Given the description of an element on the screen output the (x, y) to click on. 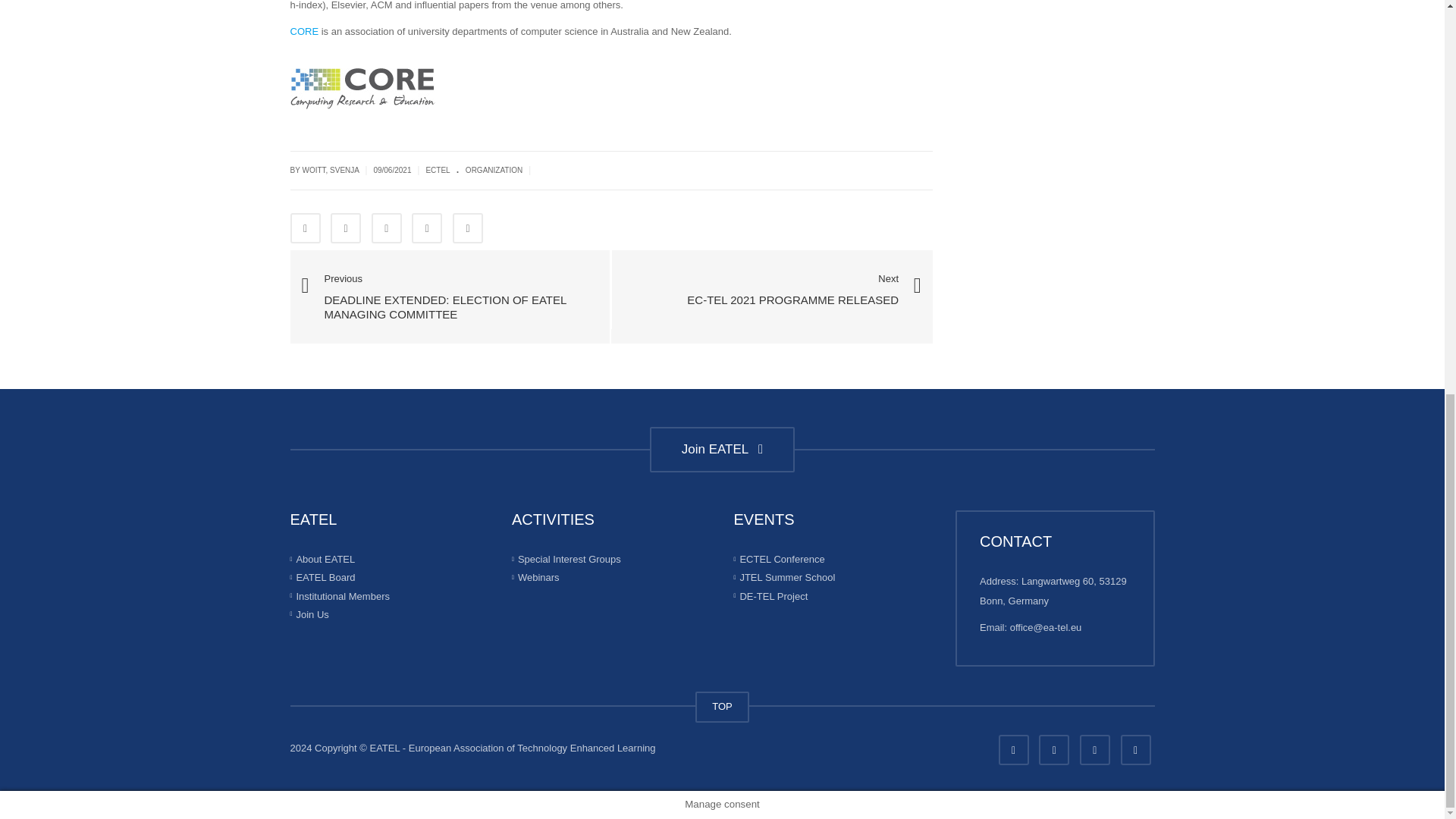
DEADLINE EXTENDED: Election of EATEL managing committee (449, 295)
Email this (467, 227)
Share on Twitter (345, 227)
Share on LinkedIn (386, 227)
Pin this (427, 227)
EC-TEL 2021 Programme Released (792, 291)
Share on Facebook (304, 227)
